Given the description of an element on the screen output the (x, y) to click on. 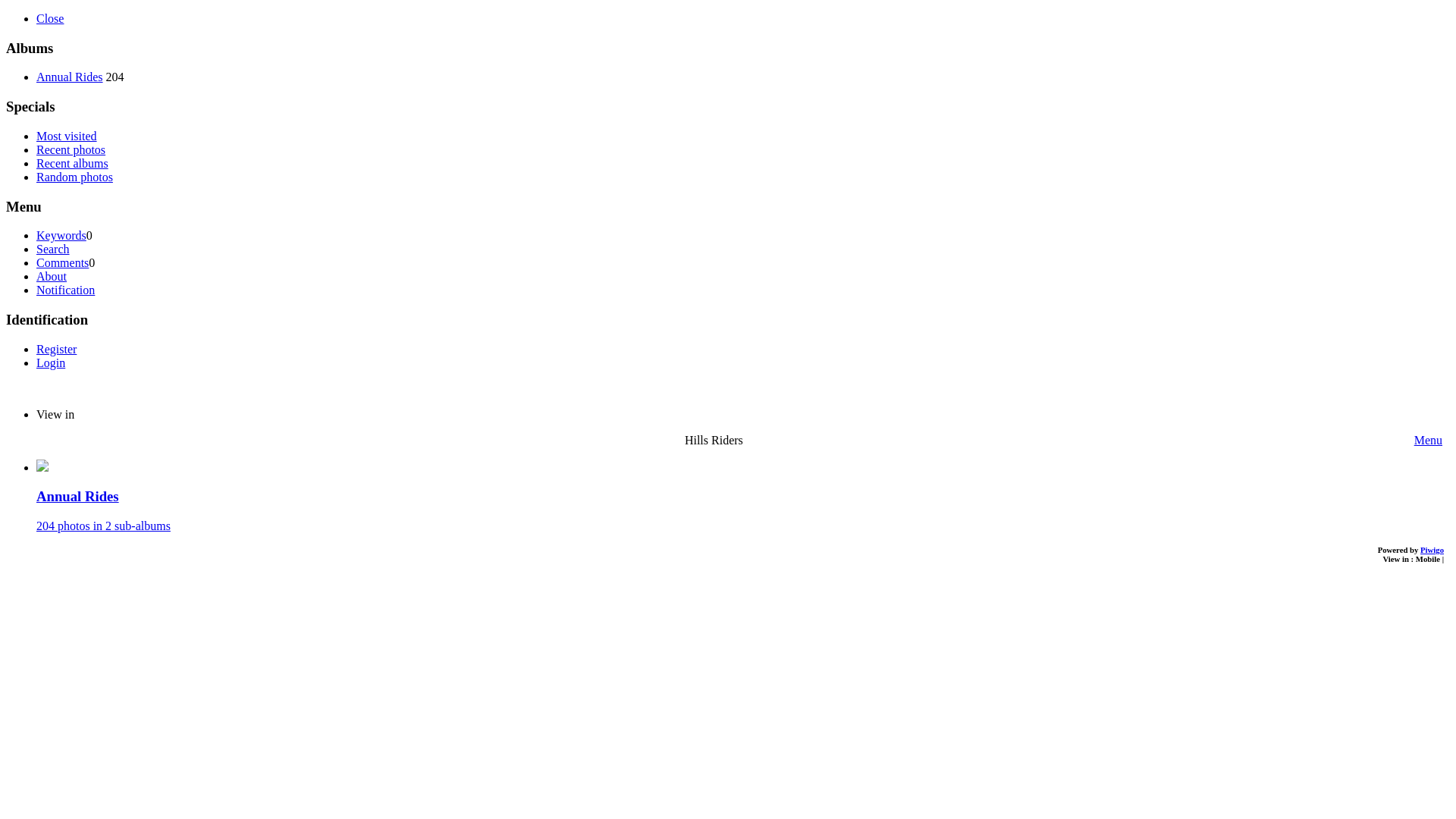
Annual Rides
204 photos in 2 sub-albums Element type: text (742, 497)
Notification Element type: text (65, 289)
About Element type: text (51, 275)
Annual Rides Element type: text (69, 76)
Most visited Element type: text (66, 135)
Keywords Element type: text (61, 235)
Random photos Element type: text (74, 176)
Search Element type: text (52, 248)
Menu Element type: text (1428, 440)
Register Element type: text (56, 348)
Comments Element type: text (62, 262)
Piwigo Element type: text (1431, 549)
Login Element type: text (50, 362)
Recent photos Element type: text (70, 149)
Close Element type: text (49, 18)
Recent albums Element type: text (72, 162)
